Given the description of an element on the screen output the (x, y) to click on. 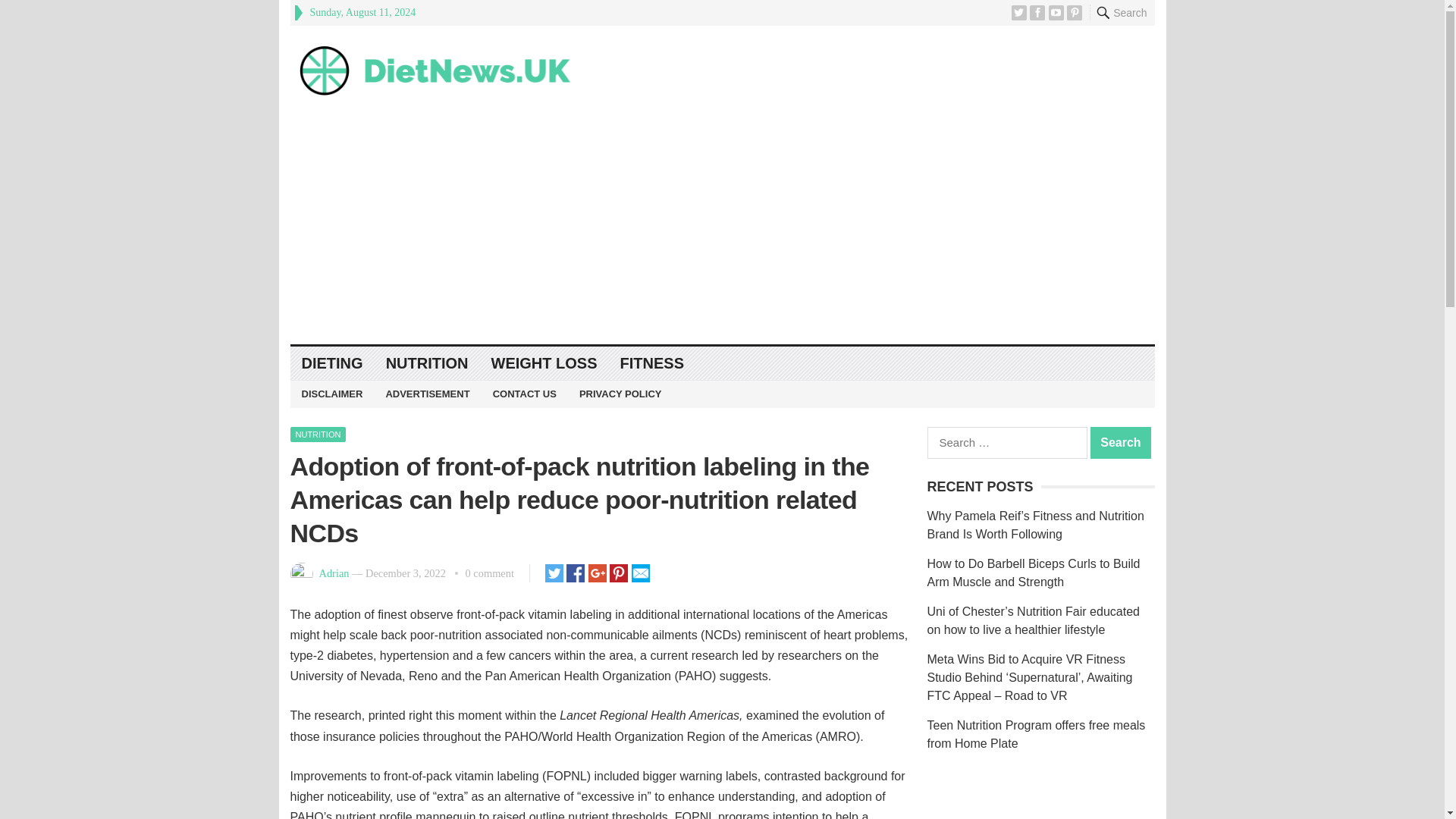
Search (1120, 442)
ADVERTISEMENT (427, 393)
NUTRITION (427, 363)
CONTACT US (524, 393)
Search (1120, 442)
View all posts in Nutrition (317, 434)
PRIVACY POLICY (619, 393)
FITNESS (651, 363)
WEIGHT LOSS (544, 363)
